Given the description of an element on the screen output the (x, y) to click on. 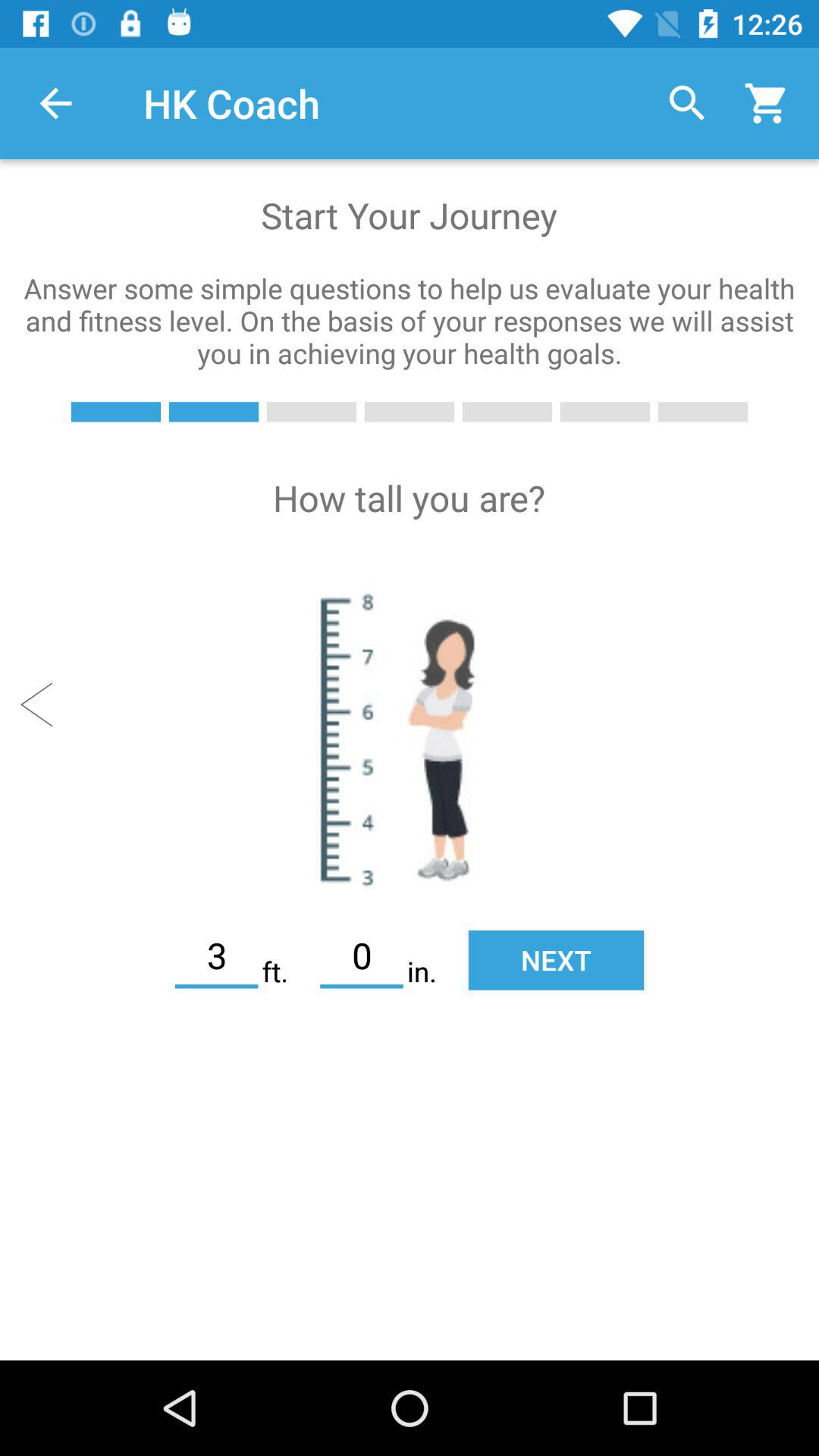
go back (43, 704)
